Given the description of an element on the screen output the (x, y) to click on. 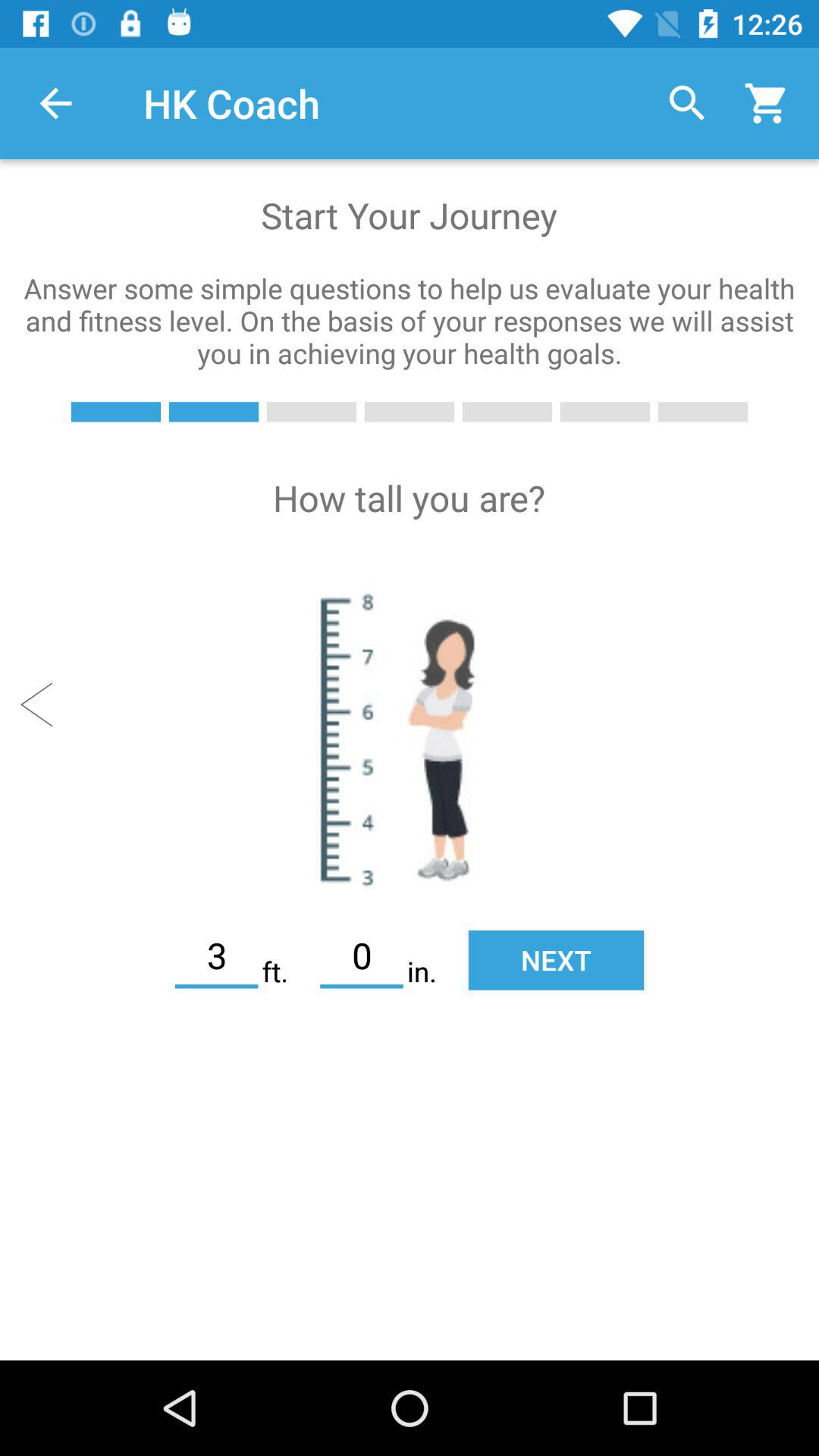
go back (43, 704)
